Given the description of an element on the screen output the (x, y) to click on. 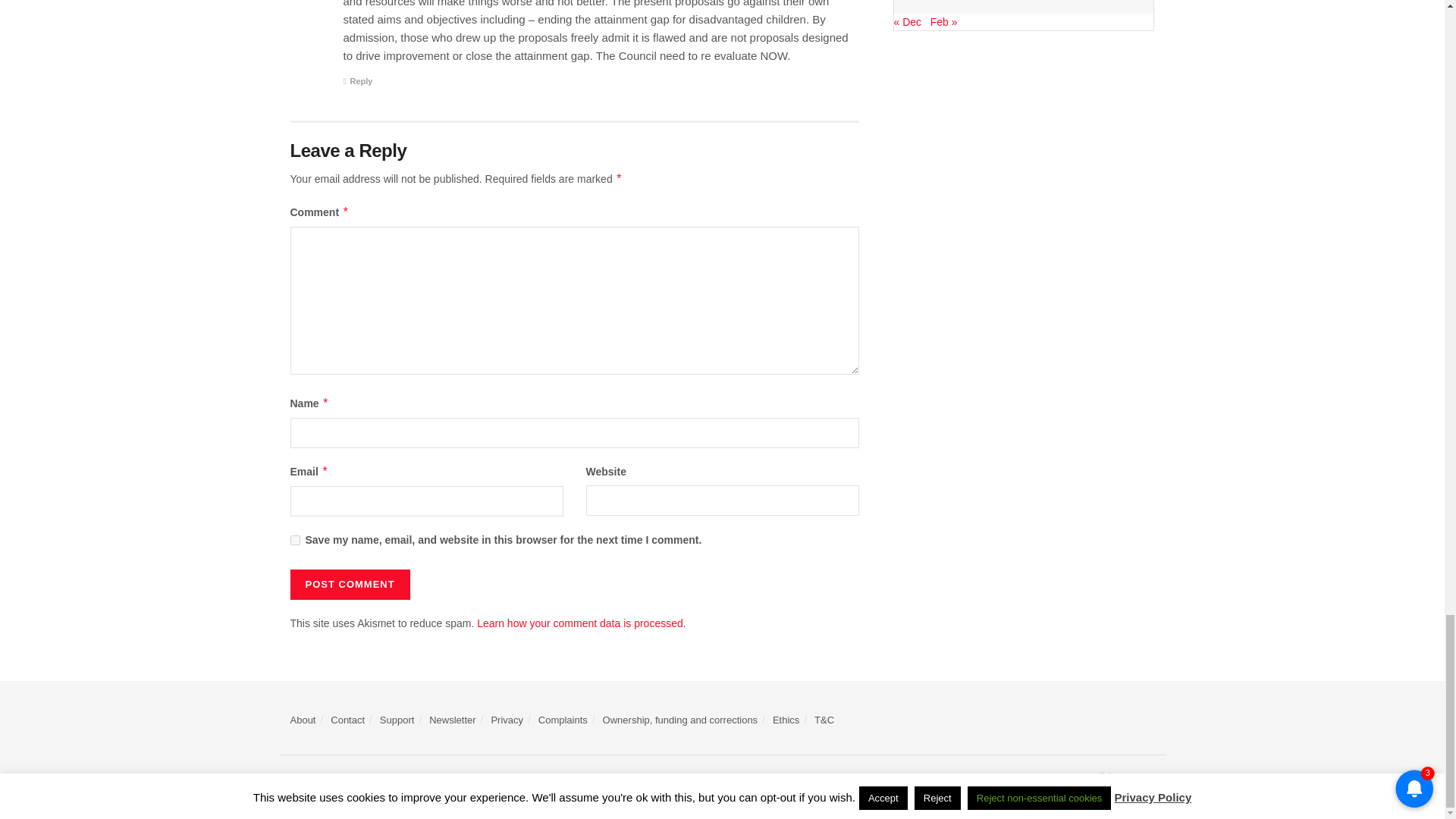
yes (294, 540)
Post Comment (349, 584)
